Given the description of an element on the screen output the (x, y) to click on. 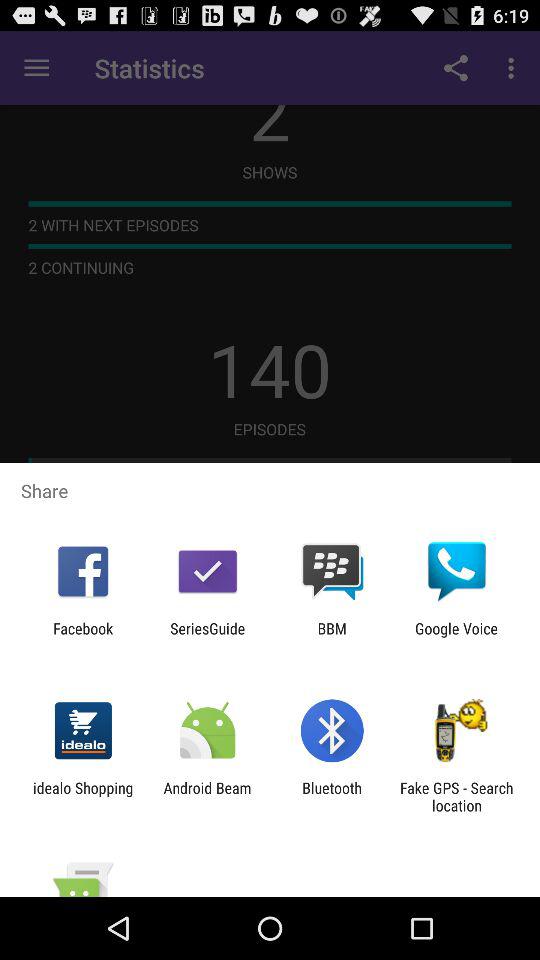
tap icon next to google voice item (331, 637)
